Given the description of an element on the screen output the (x, y) to click on. 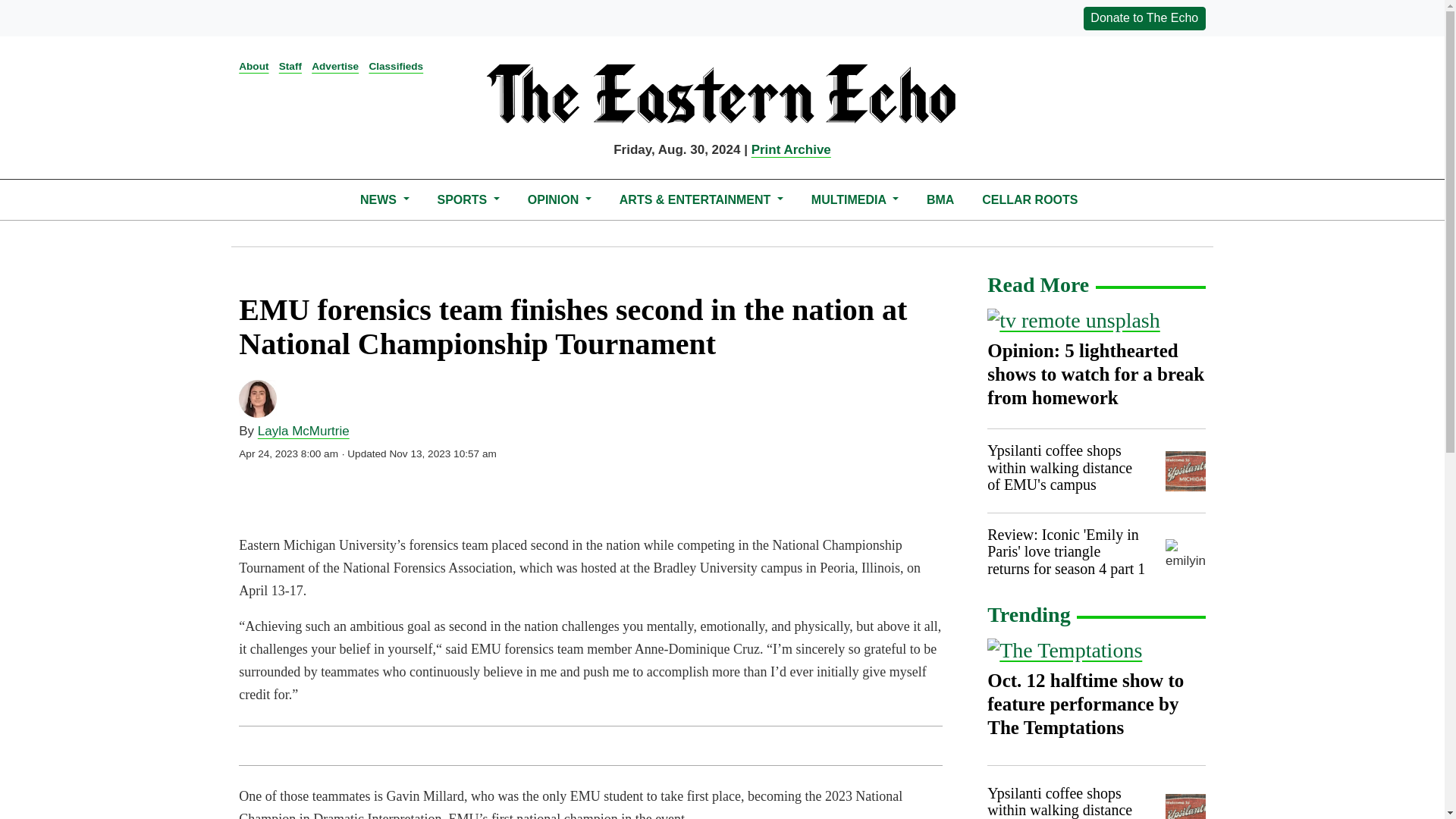
Cellar Roots (1029, 199)
MULTIMEDIA (854, 199)
Classifieds (395, 66)
Print Archive (791, 149)
OPINION (558, 199)
